Given the description of an element on the screen output the (x, y) to click on. 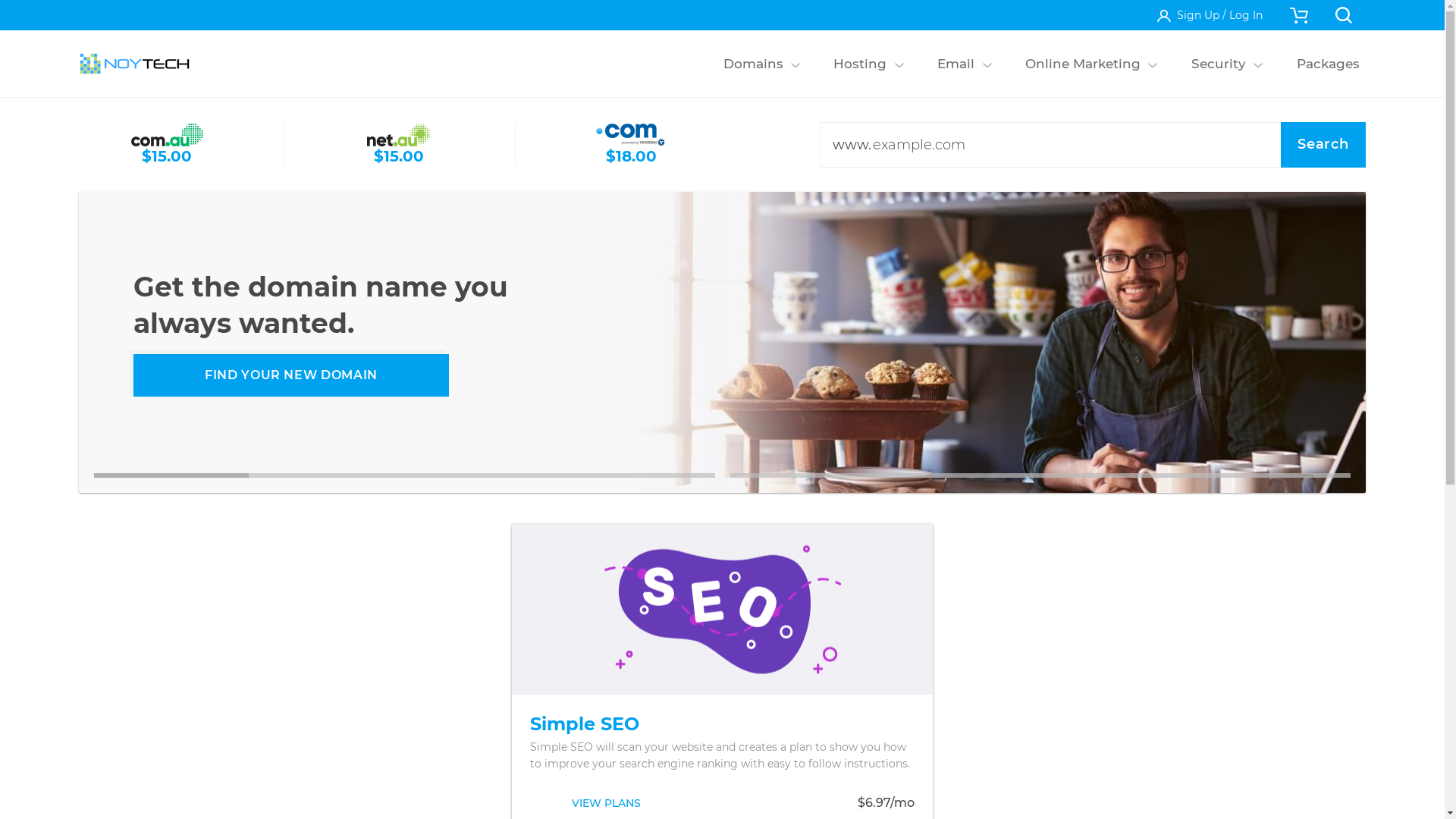
Search Element type: text (1322, 144)
Online Marketing Element type: text (1083, 63)
Hosting Element type: text (860, 63)
Email Element type: text (956, 63)
VIEW PLANS Element type: text (606, 802)
Domains Element type: text (752, 63)
Security Element type: text (1218, 63)
BUILD NOW Element type: text (292, 375)
Packages Element type: text (1327, 63)
